Given the description of an element on the screen output the (x, y) to click on. 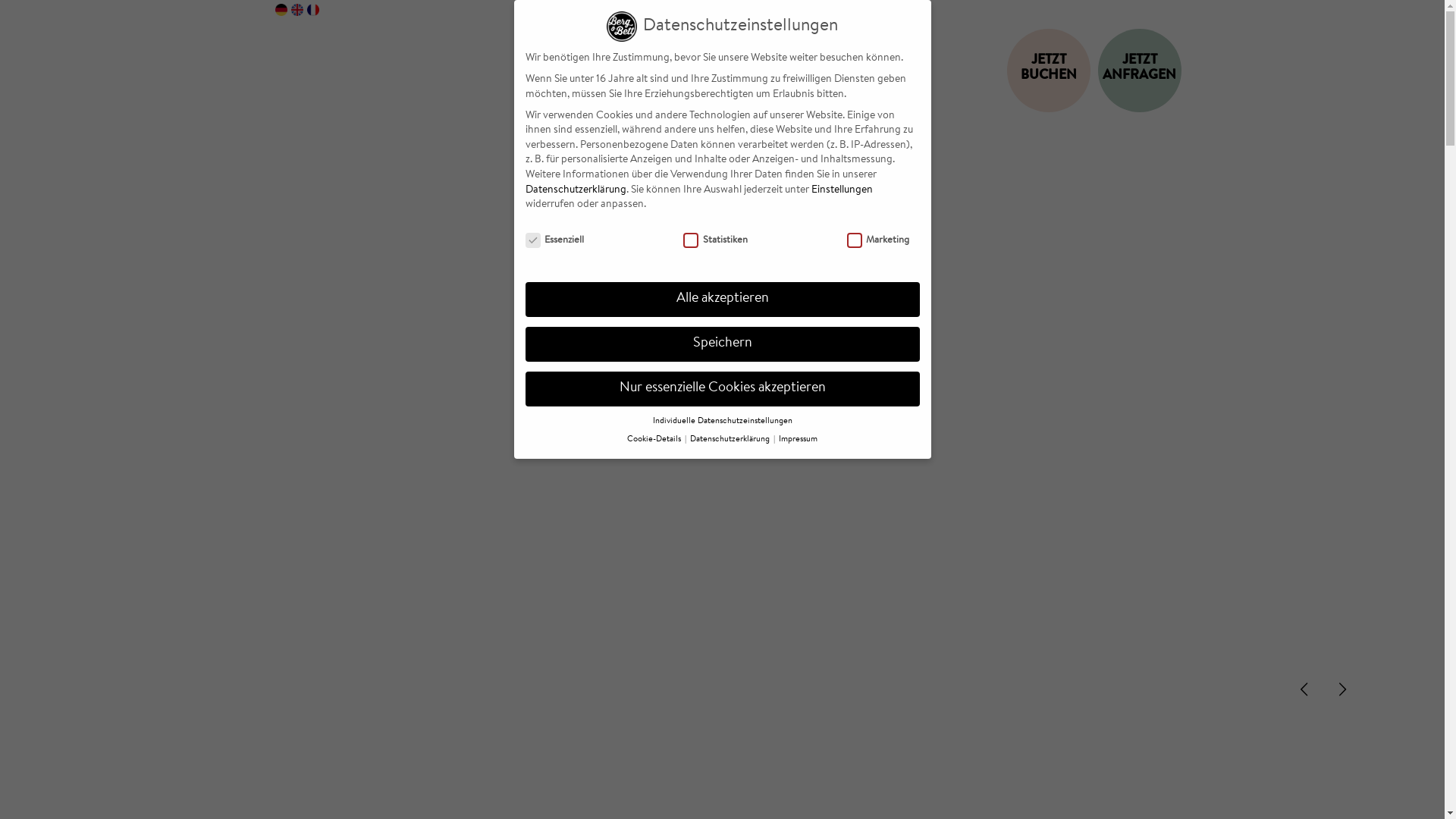
Cookie-Details Element type: text (655, 439)
Nur essenzielle Cookies akzeptieren Element type: text (721, 388)
+41 71 999 27 27 Element type: text (1063, 12)
Individuelle Datenschutzeinstellungen Element type: text (721, 421)
info@bergundbett.ch Element type: text (1140, 12)
Kunden-Login Element type: text (995, 12)
Weiter Element type: text (1342, 688)
Impressum Element type: text (797, 439)
Alle akzeptieren Element type: text (721, 299)
Einstellungen Element type: text (841, 190)
Speichern Element type: text (721, 343)
